Given the description of an element on the screen output the (x, y) to click on. 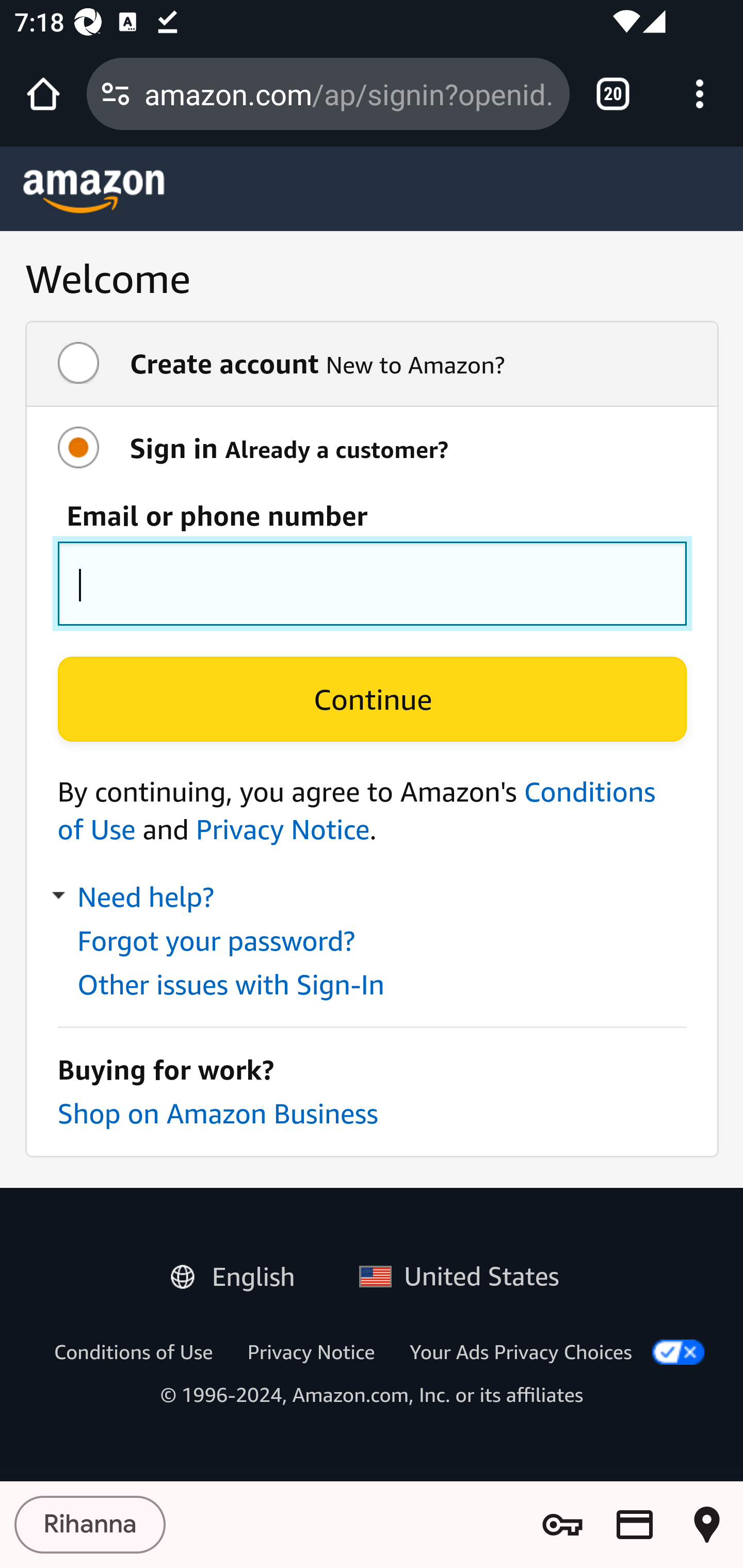
Open the home page (43, 93)
Connection is secure (115, 93)
Switch or close tabs (612, 93)
Customize and control Google Chrome (699, 93)
Amazon (94, 191)
Continue (371, 698)
Conditions of Use (356, 810)
Privacy Notice (282, 829)
Need help? (134, 897)
Forgot your password? (215, 940)
Other issues with Sign-In (230, 984)
Shop on Amazon Business (216, 1113)
Choose a language for shopping. English (239, 1271)
Conditions of Use (132, 1351)
Privacy Notice (310, 1351)
Your Ads Privacy Choices (520, 1351)
Rihanna (89, 1524)
Show saved passwords and password options (562, 1524)
Show saved payment methods (634, 1524)
Show saved addresses (706, 1524)
